Given the description of an element on the screen output the (x, y) to click on. 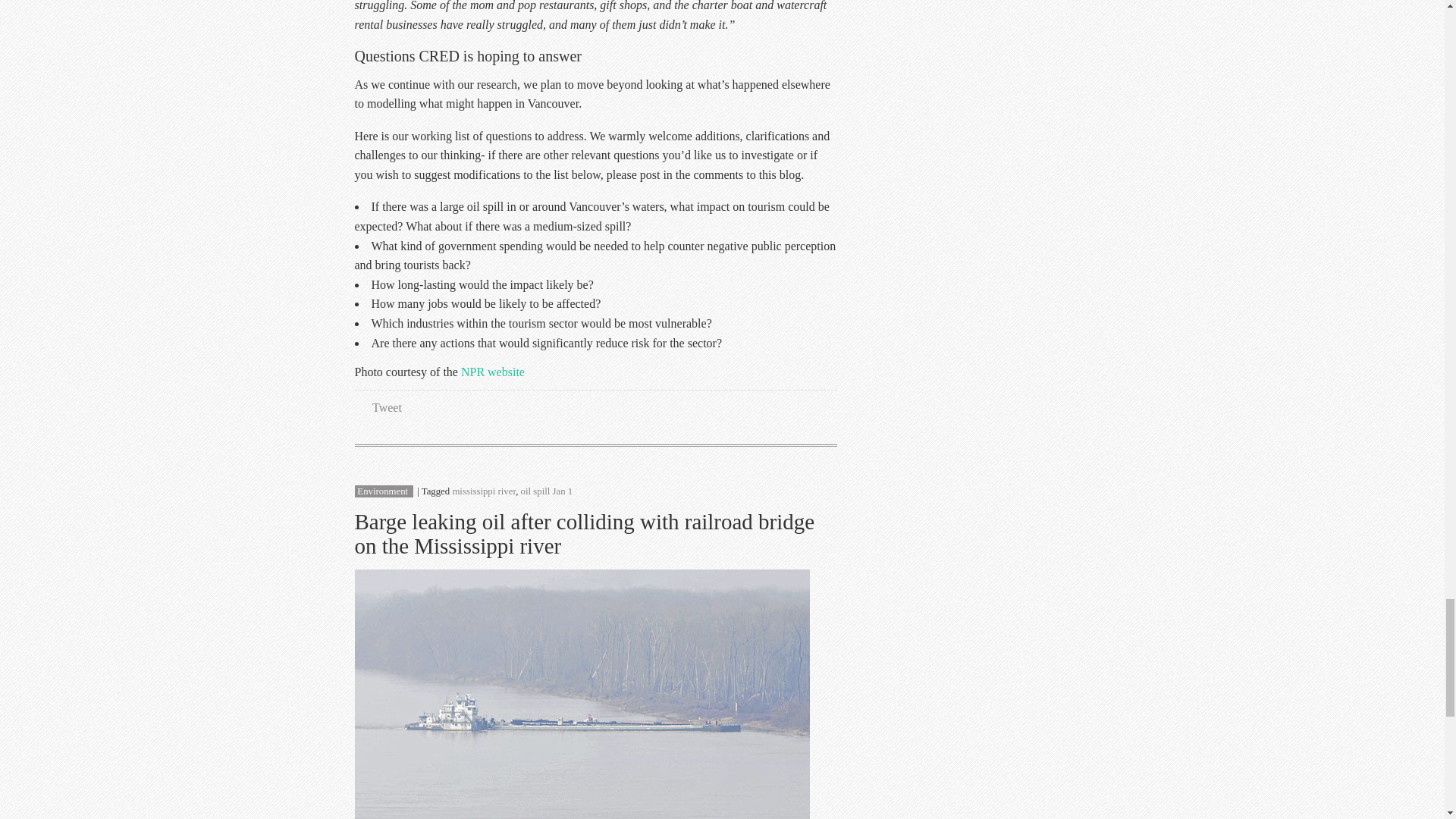
View all posts in Environment (381, 491)
6:41 pm (563, 491)
